Given the description of an element on the screen output the (x, y) to click on. 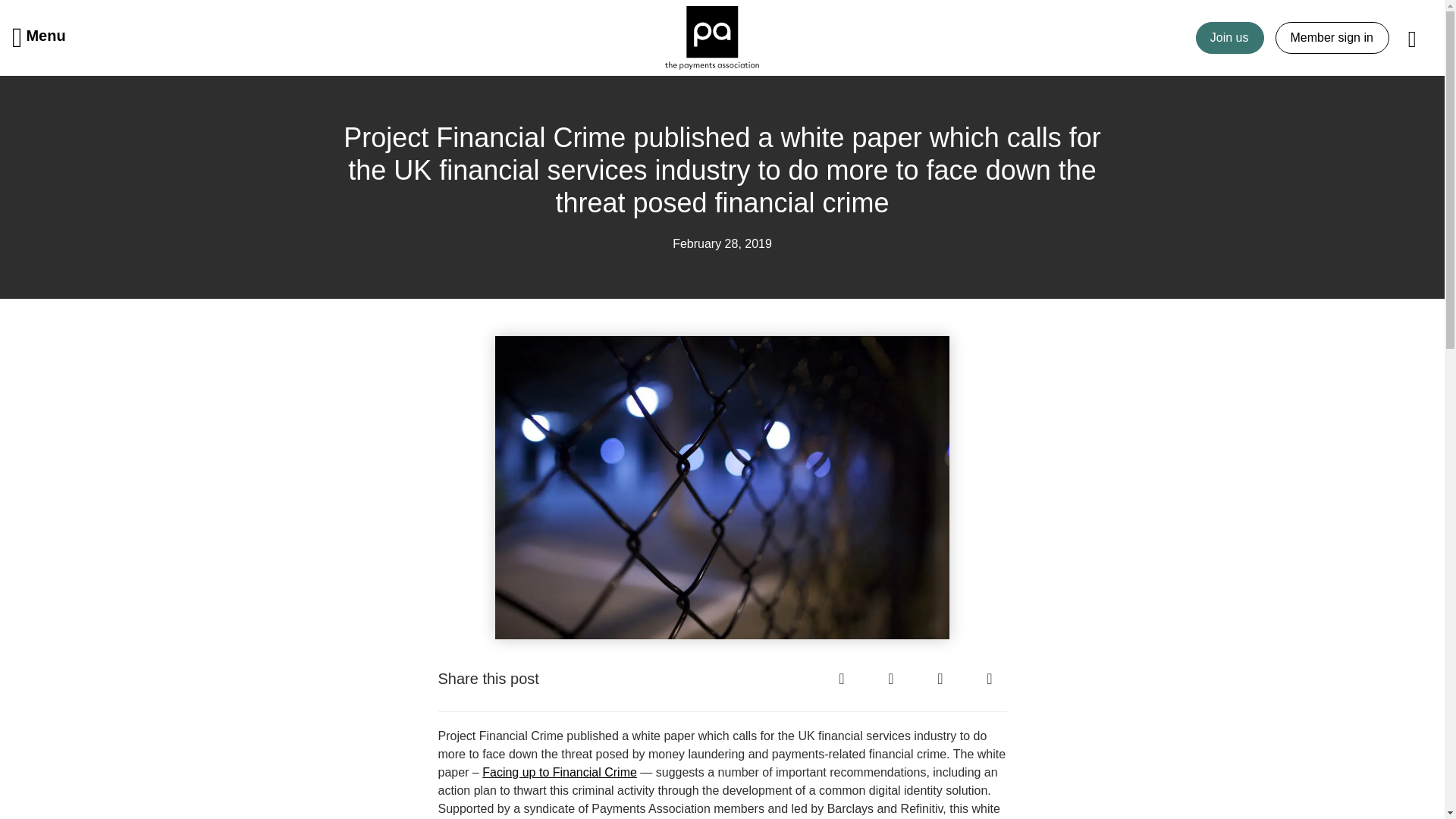
Member sign in (1332, 37)
Menu (39, 37)
February 28, 2019 (721, 244)
Join us (1230, 37)
Facing up to Financial Crime (559, 771)
